Given the description of an element on the screen output the (x, y) to click on. 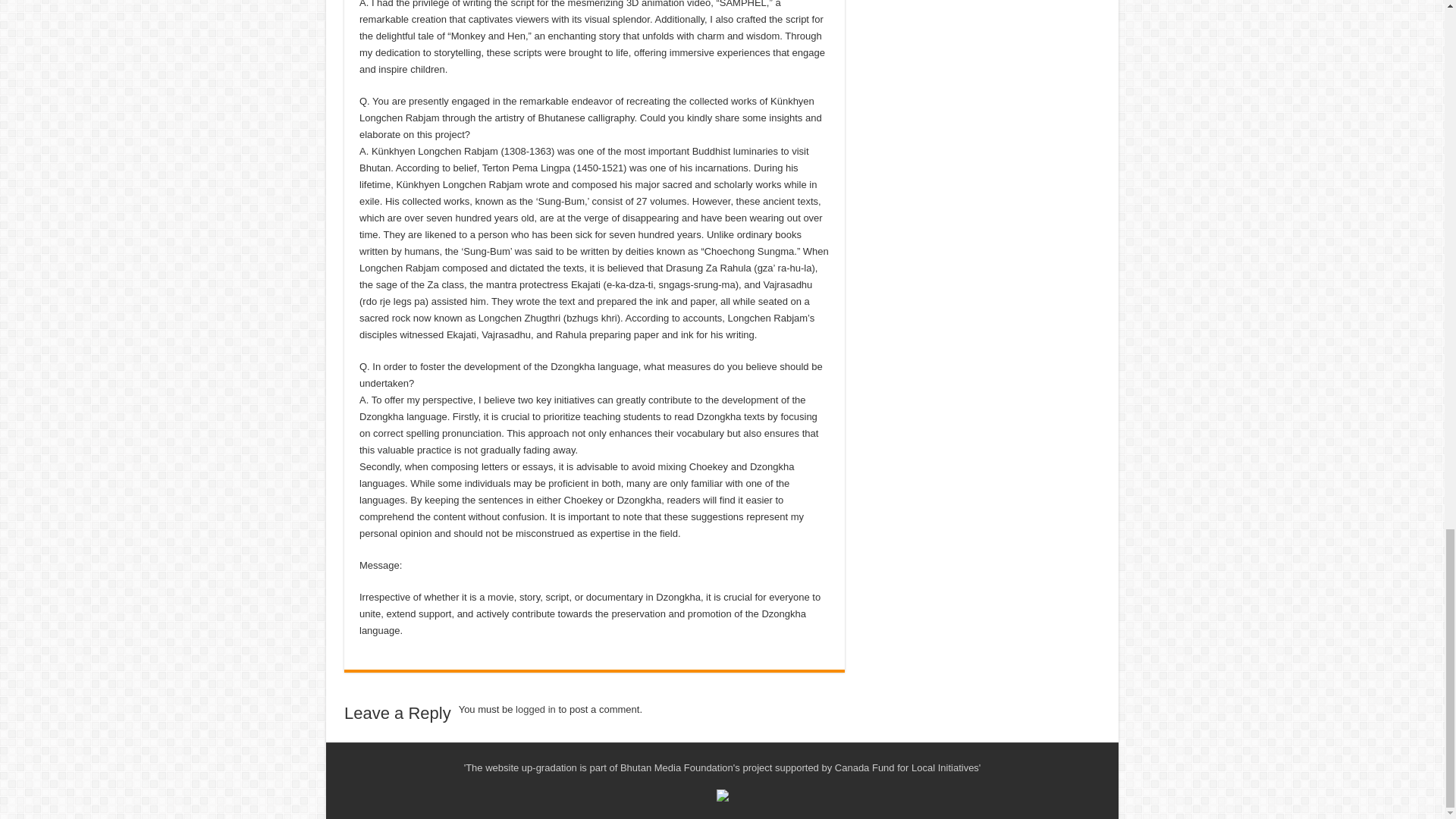
logged in (535, 708)
